Given the description of an element on the screen output the (x, y) to click on. 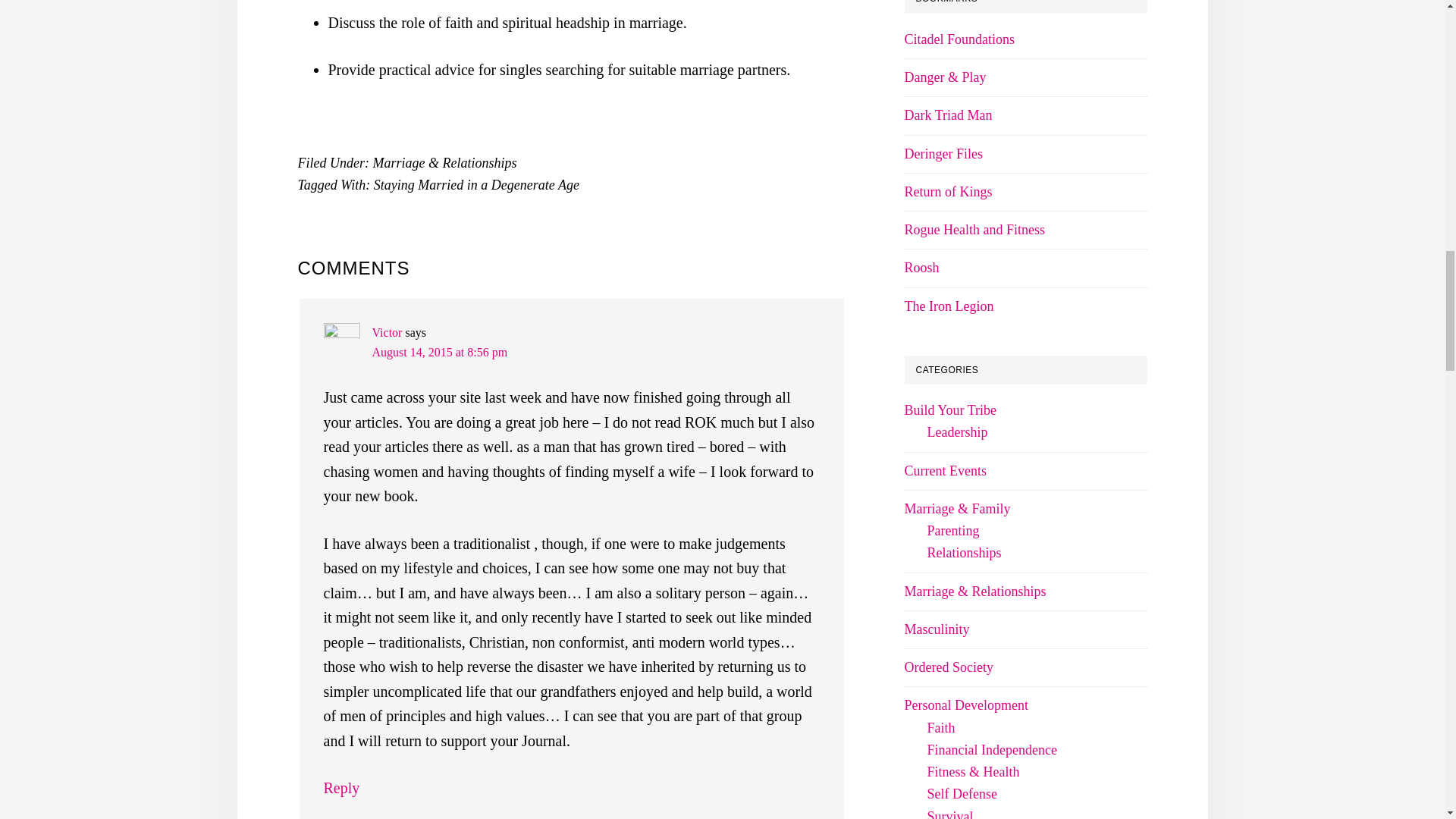
Reply (341, 787)
Victor (386, 332)
Staying Married in a Degenerate Age (476, 184)
August 14, 2015 at 8:56 pm (438, 351)
